Given the description of an element on the screen output the (x, y) to click on. 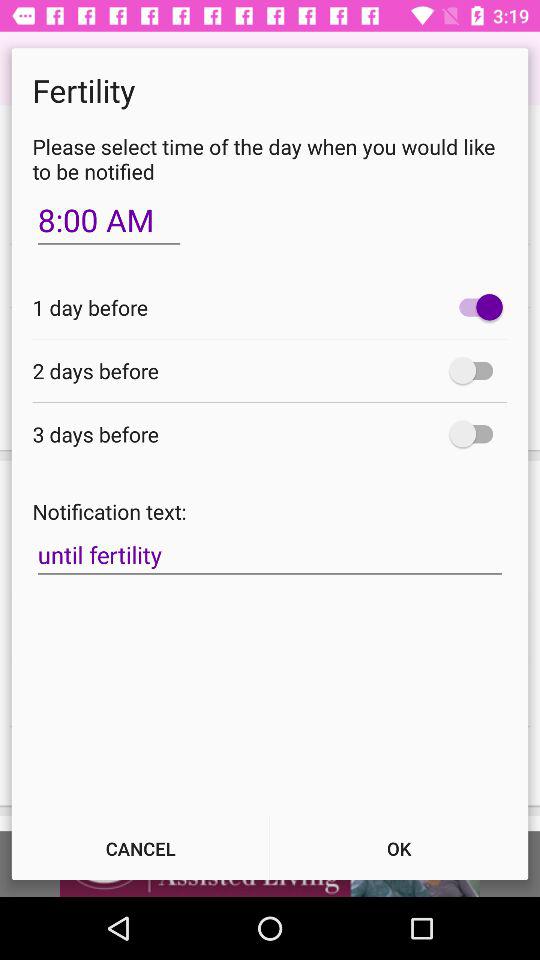
turn on item next to the 3 days before icon (476, 433)
